Given the description of an element on the screen output the (x, y) to click on. 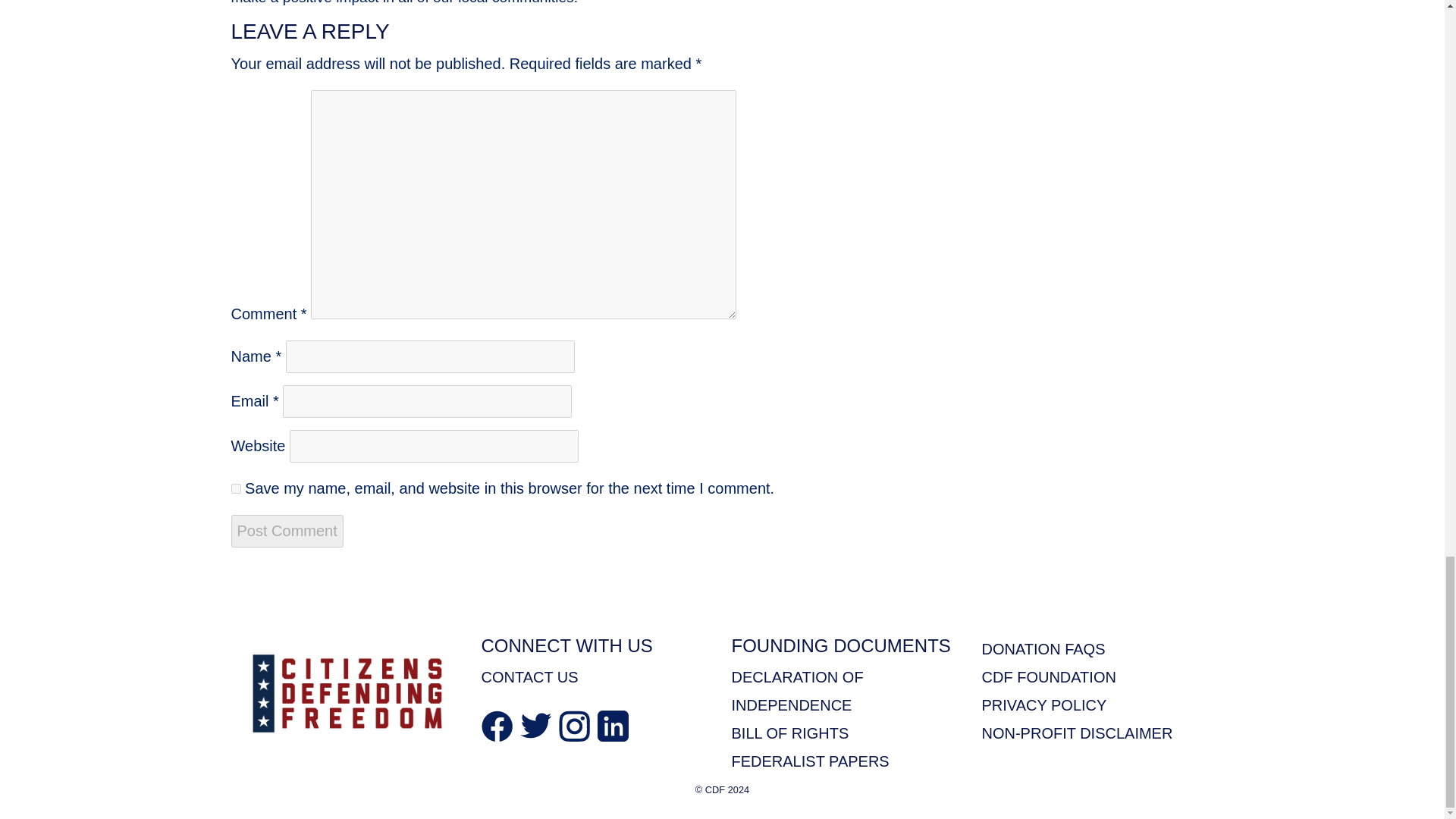
DECLARATION OF INDEPENDENCE (796, 691)
Post Comment (286, 531)
NON-PROFIT DISCLAIMER (1076, 733)
Non-Profit Disclaimer (1076, 733)
BILL OF RIGHTS (789, 733)
linkedin (612, 724)
Federalist Papers (809, 760)
CDF FOUNDATION (1048, 677)
DONATION FAQS (1043, 648)
Privacy Policy (1043, 704)
CDF Foundation (1048, 677)
twitter (535, 723)
yes (235, 488)
FEDERALIST PAPERS (809, 760)
Post Comment (286, 531)
